Given the description of an element on the screen output the (x, y) to click on. 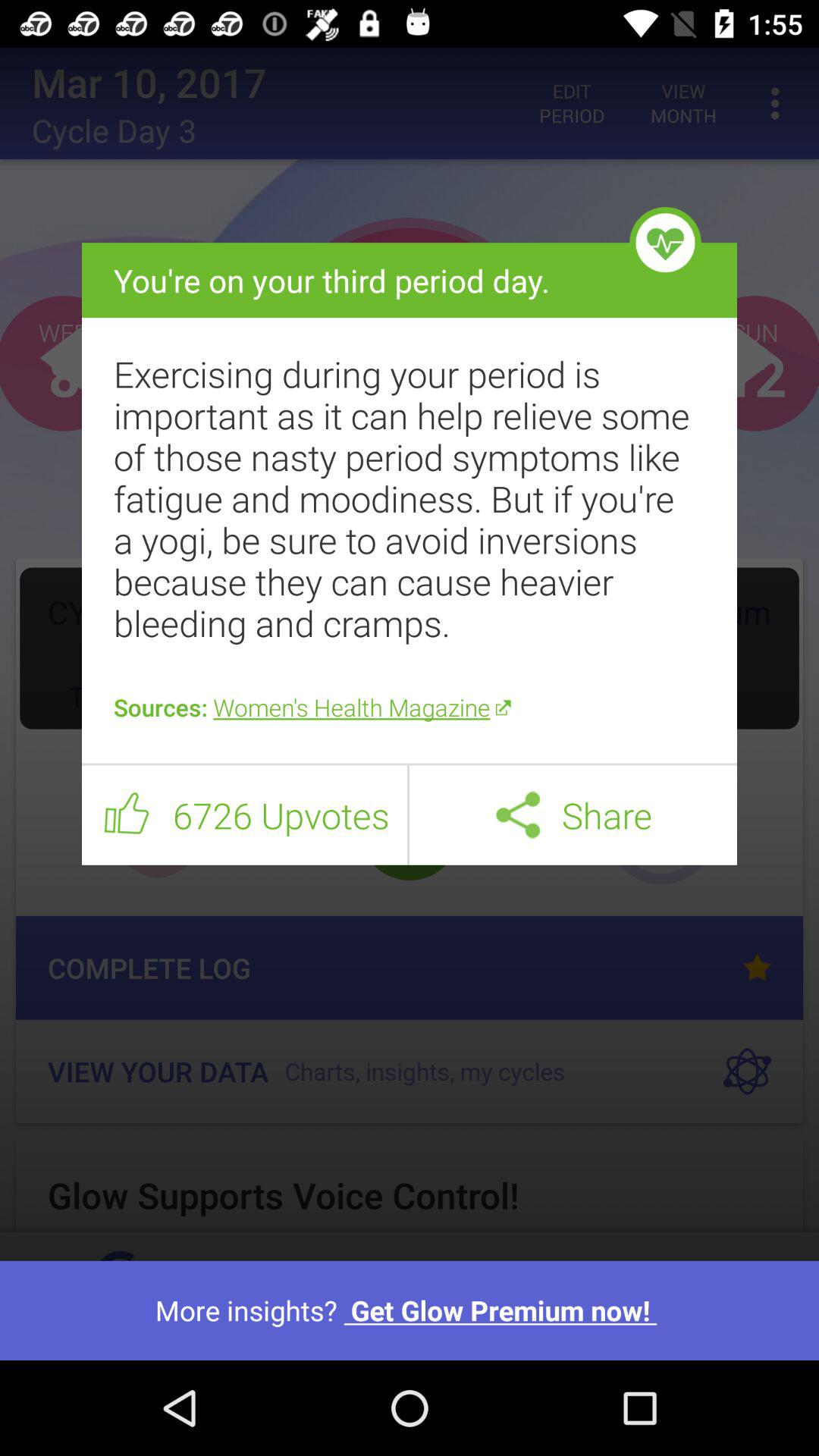
turn on the icon to the left of share icon (518, 814)
